Given the description of an element on the screen output the (x, y) to click on. 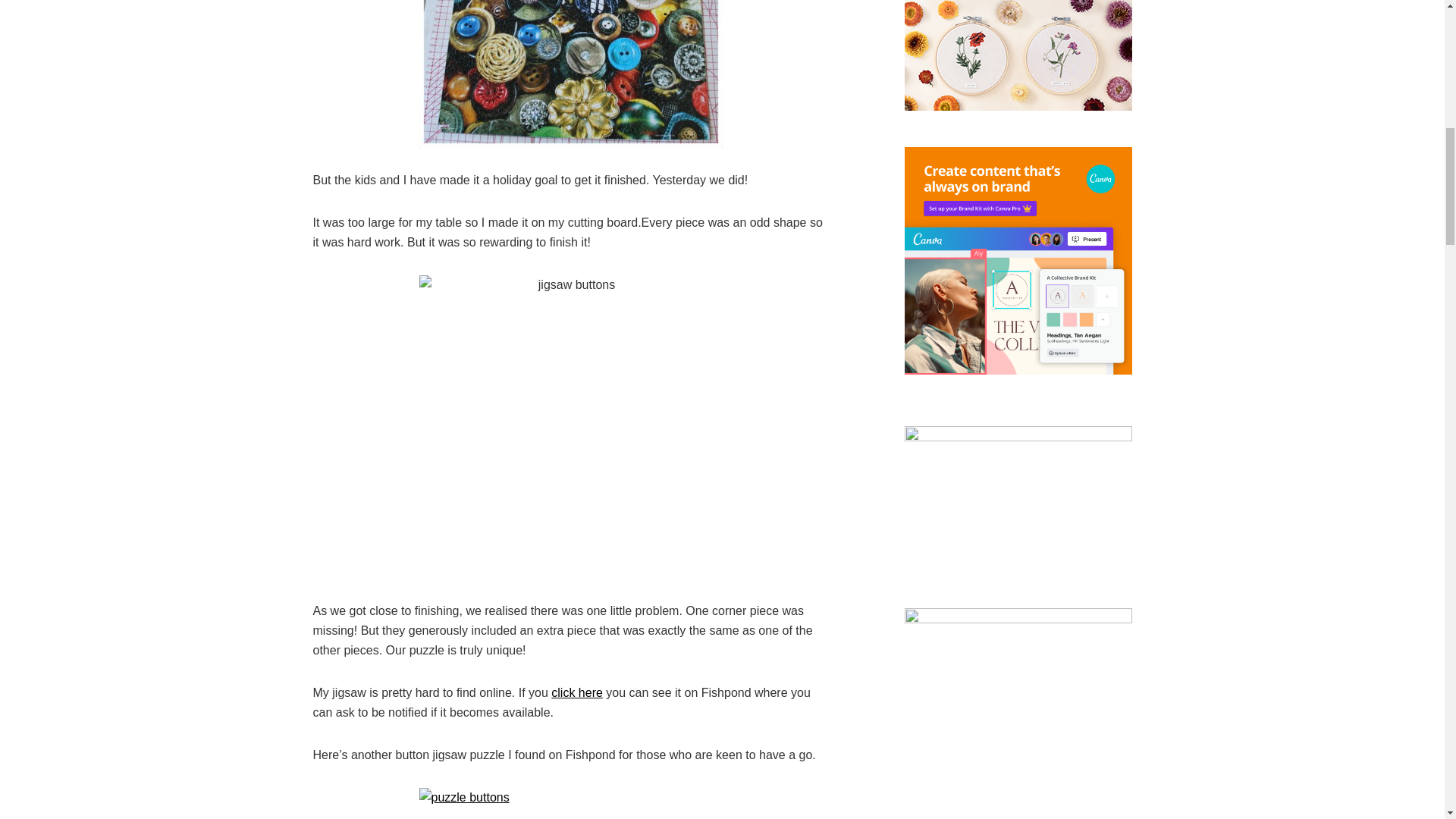
original (570, 803)
button jigsaw corner (570, 426)
button jigsaw puzzle (570, 74)
